Given the description of an element on the screen output the (x, y) to click on. 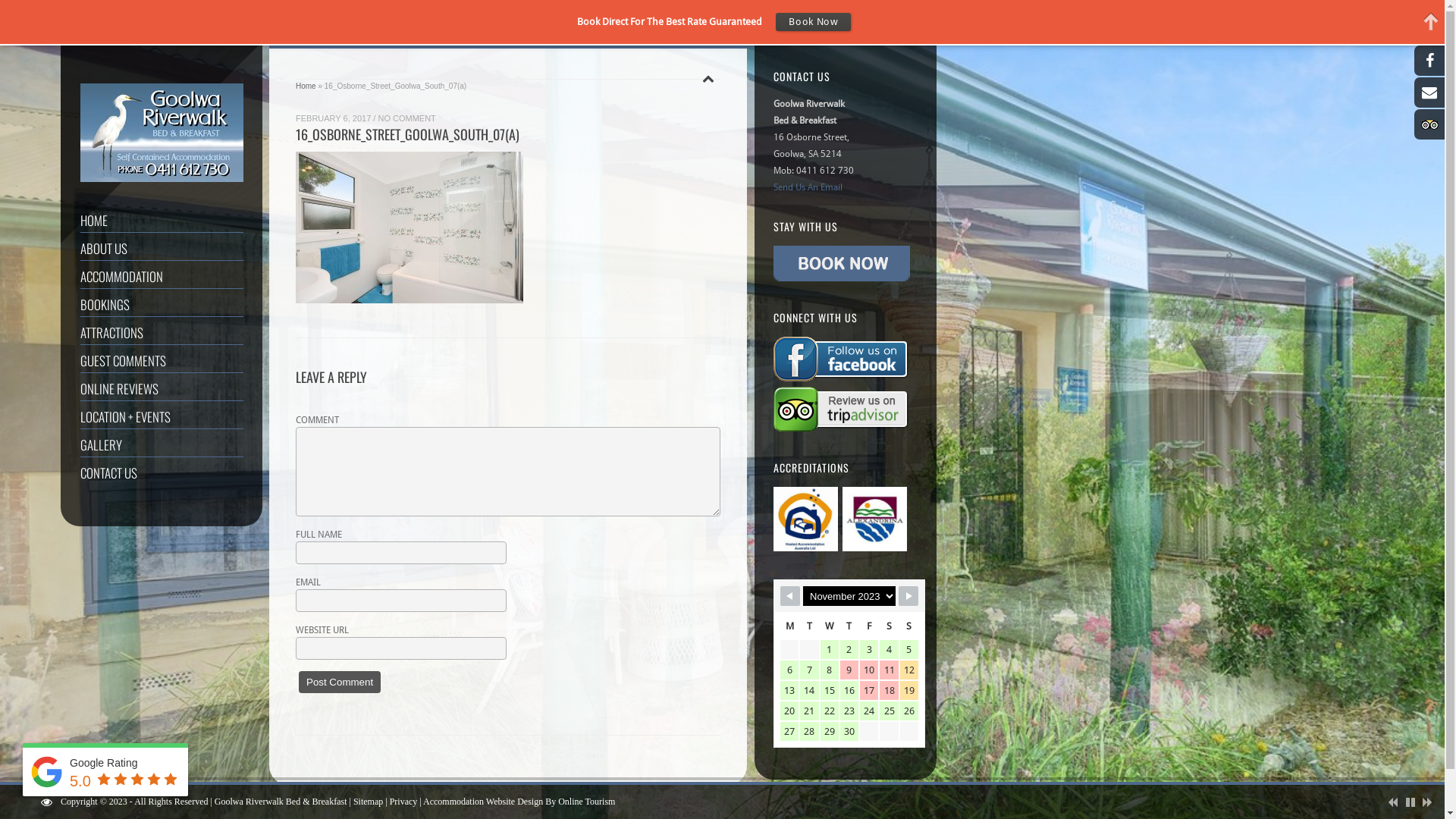
ATTRACTIONS Element type: text (161, 332)
Sitemap Element type: text (367, 801)
Online Tourism Element type: text (586, 801)
Post Comment Element type: text (339, 682)
Send Us An Email Element type: text (807, 187)
Privacy Element type: text (403, 801)
Tripadvisor Element type: text (1429, 124)
NO COMMENT Element type: text (406, 115)
ONLINE REVIEWS Element type: text (161, 388)
CONTACT US Element type: text (161, 472)
GUEST COMMENTS Element type: text (161, 360)
HOME Element type: text (161, 219)
GALLERY Element type: text (161, 444)
Accommodation Website Design Element type: text (482, 801)
Goolwa Riverwalk Bed & Breakfast Element type: text (280, 801)
LOCATION + EVENTS Element type: text (161, 416)
16_OSBORNE_STREET_GOOLWA_SOUTH_07(A) Element type: text (407, 136)
BOOKINGS Element type: text (161, 303)
Home Element type: text (305, 85)
ABOUT US Element type: text (161, 247)
ACCOMMODATION Element type: text (161, 275)
